Given the description of an element on the screen output the (x, y) to click on. 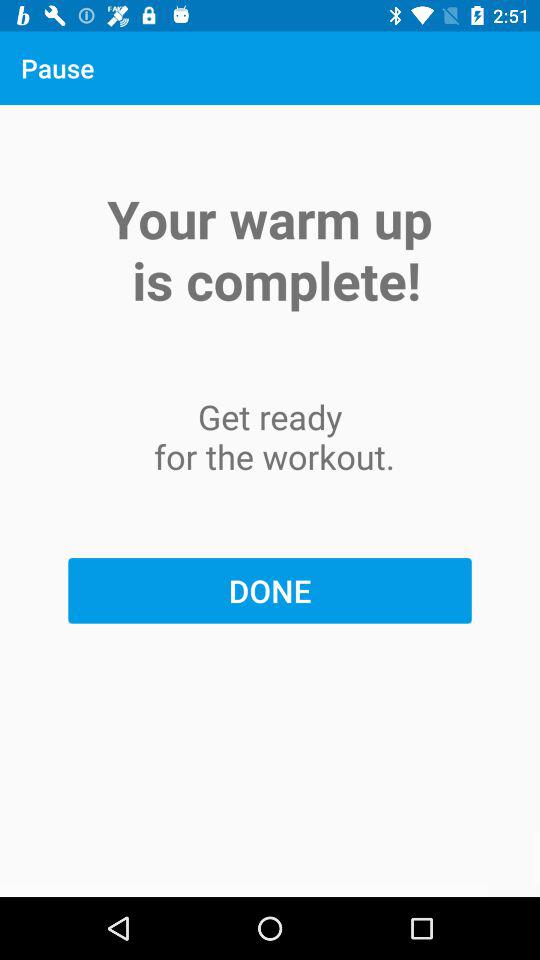
turn on the done (269, 590)
